Given the description of an element on the screen output the (x, y) to click on. 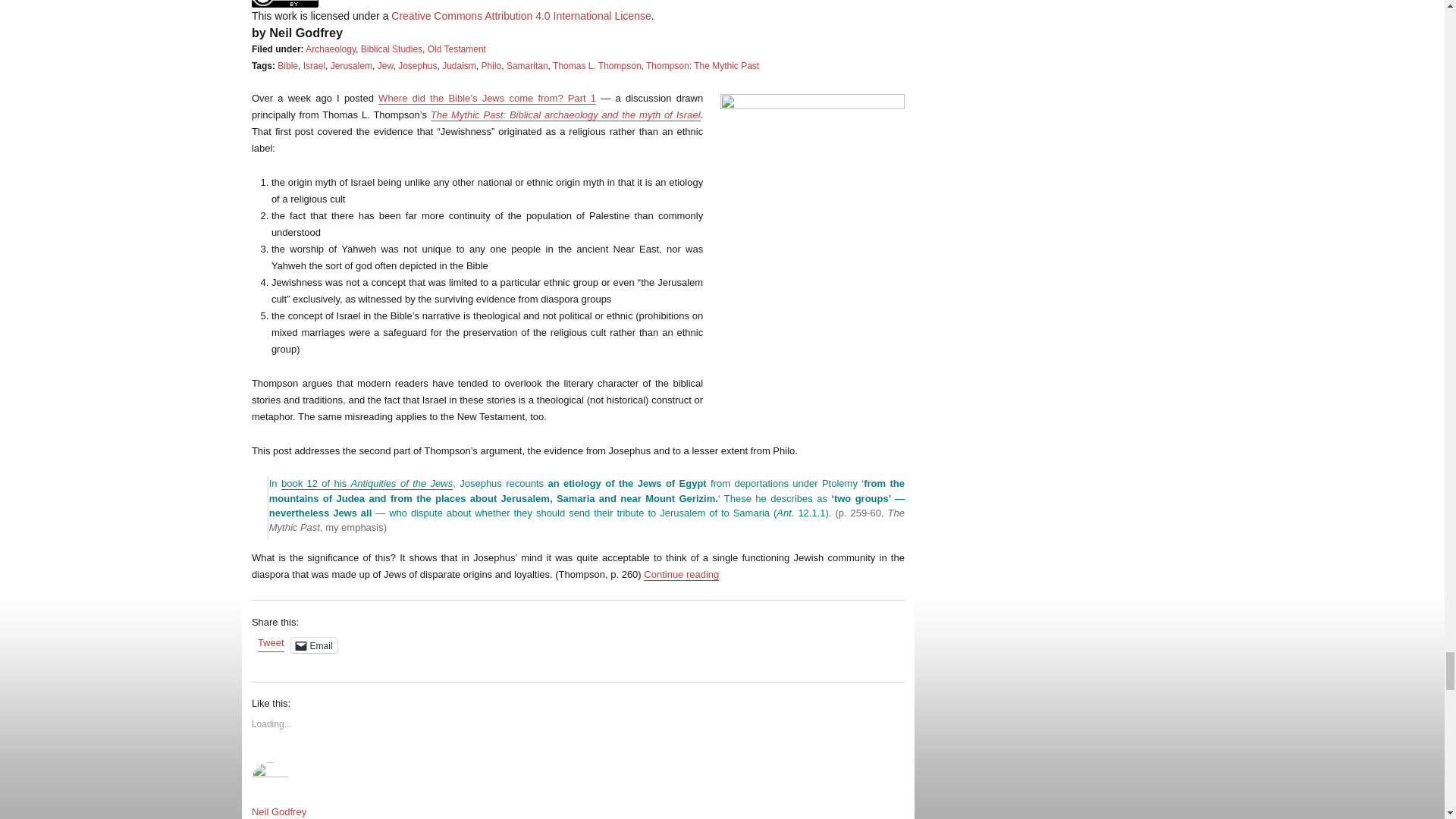
Click to email a link to a friend (313, 645)
